Given the description of an element on the screen output the (x, y) to click on. 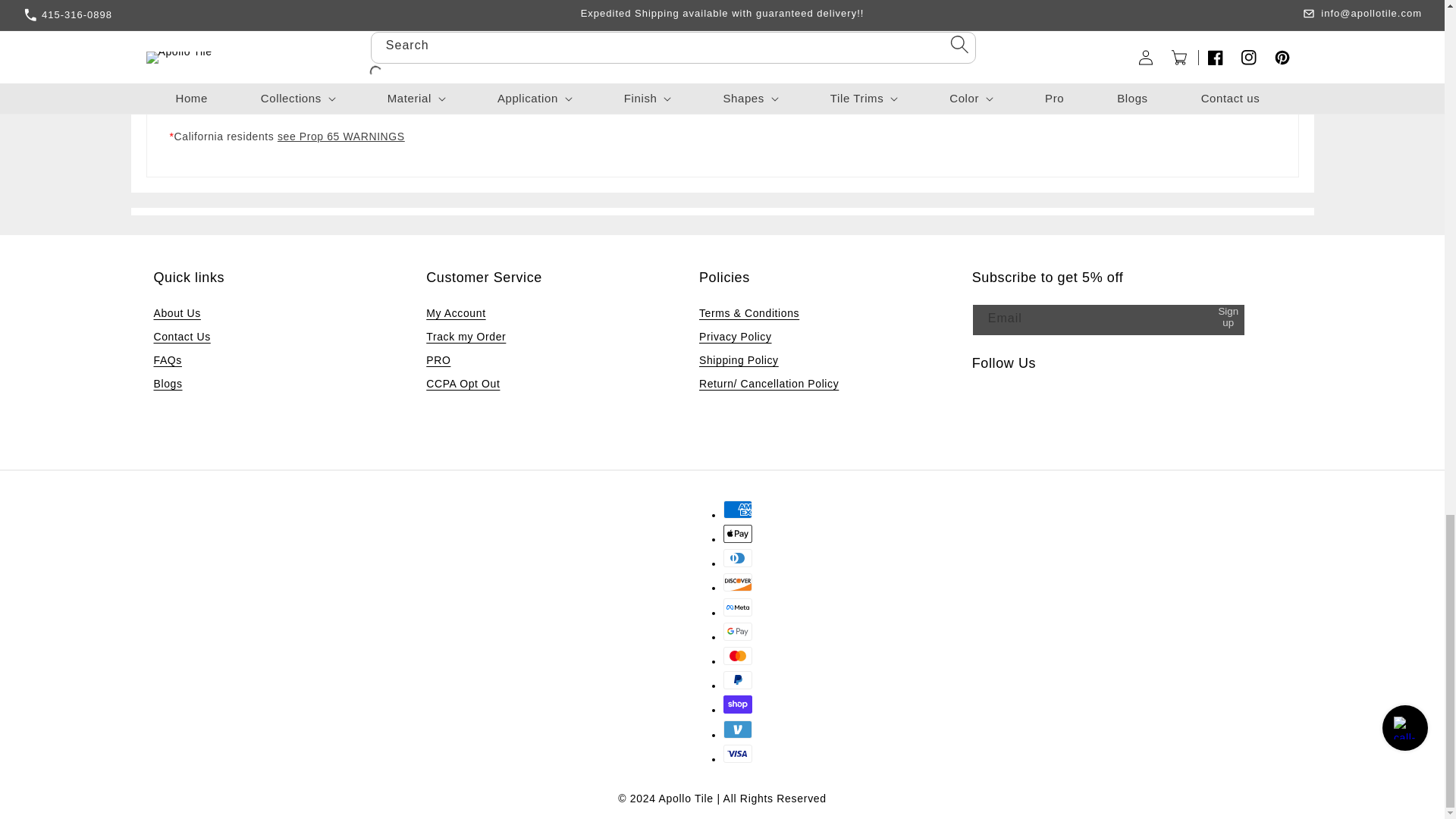
American Express (737, 509)
Discover (737, 582)
Apple Pay (737, 533)
Diners Club (737, 557)
